Given the description of an element on the screen output the (x, y) to click on. 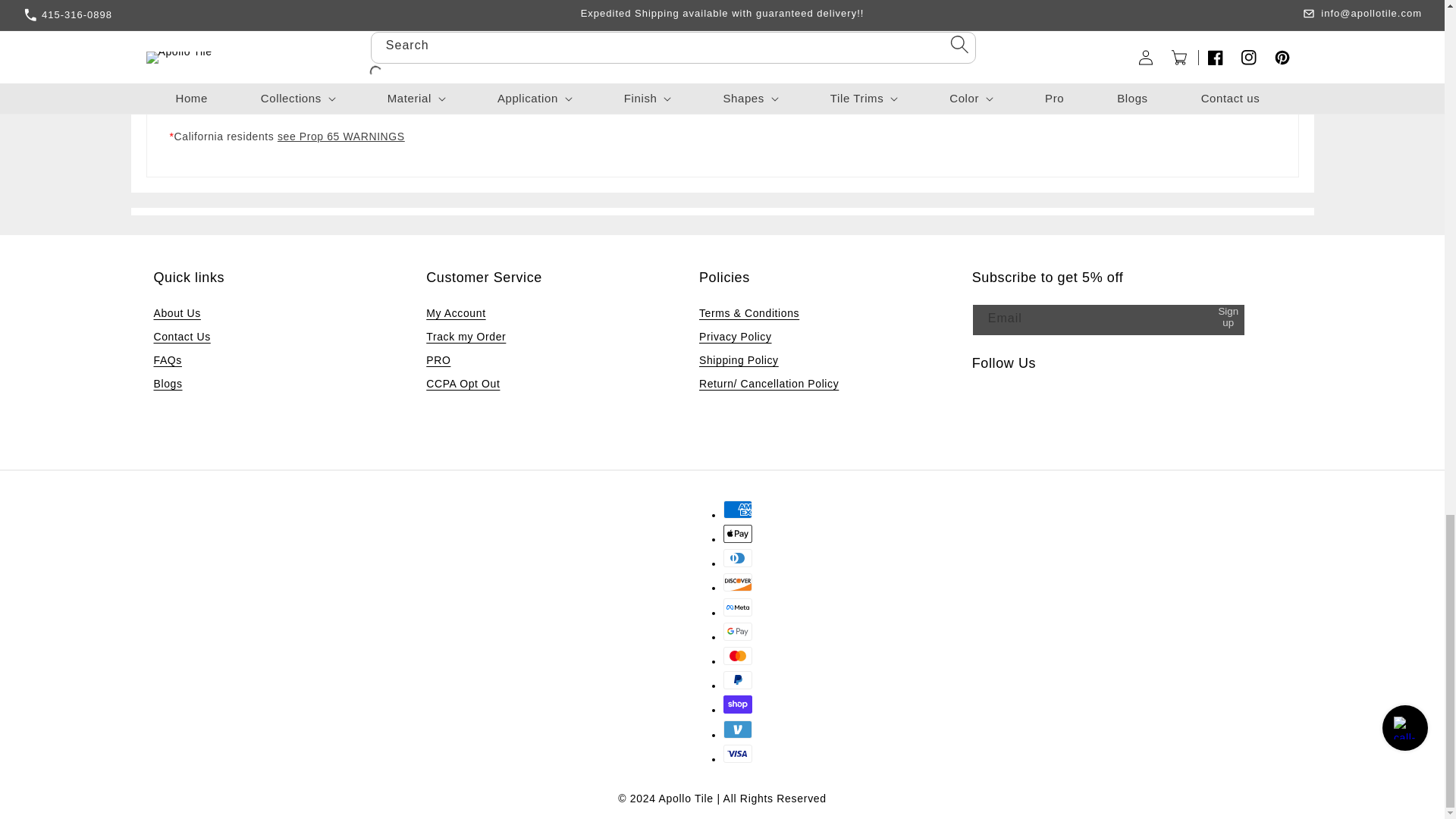
American Express (737, 509)
Discover (737, 582)
Apple Pay (737, 533)
Diners Club (737, 557)
